Given the description of an element on the screen output the (x, y) to click on. 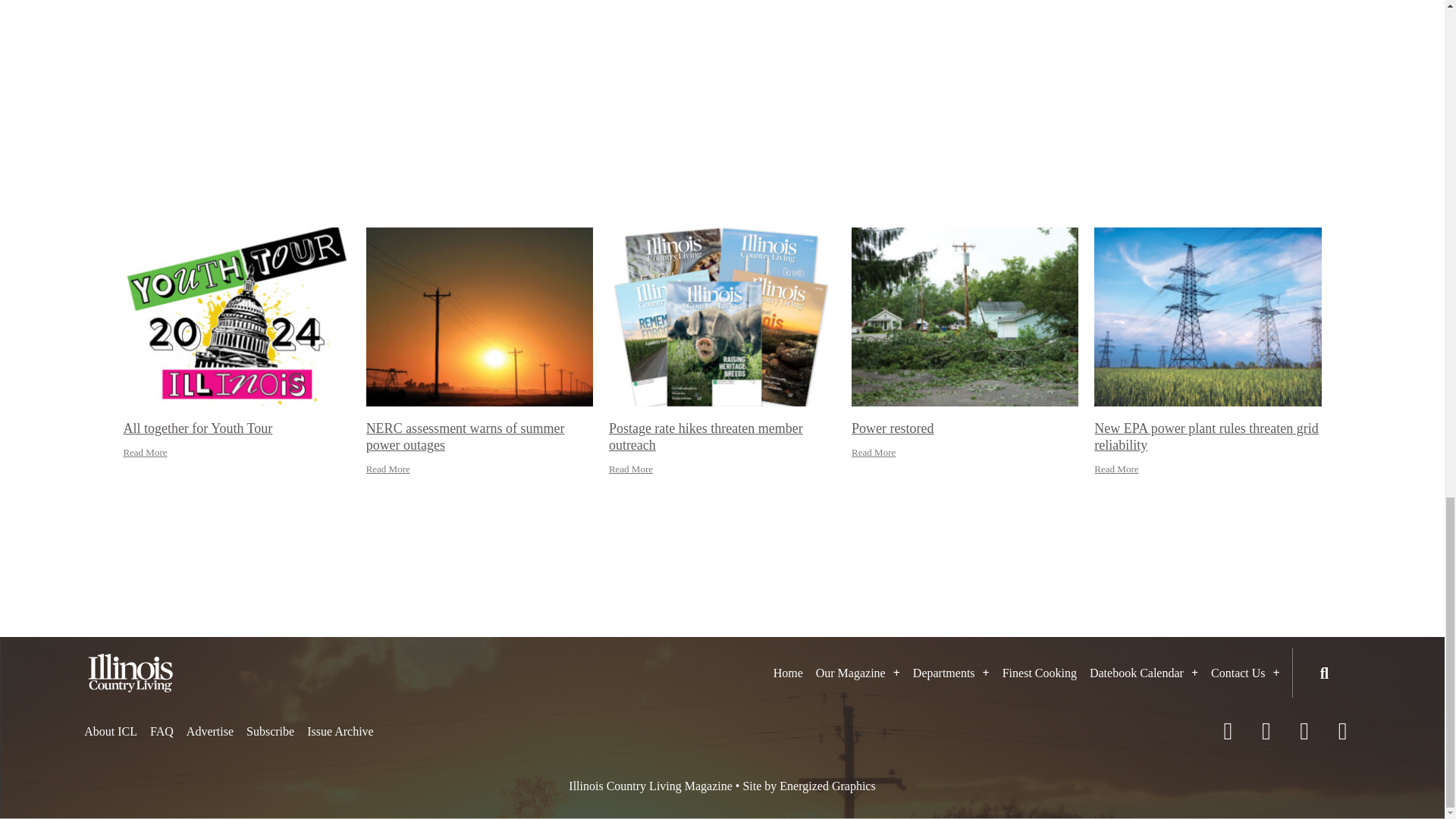
ICL-logo (130, 672)
